Given the description of an element on the screen output the (x, y) to click on. 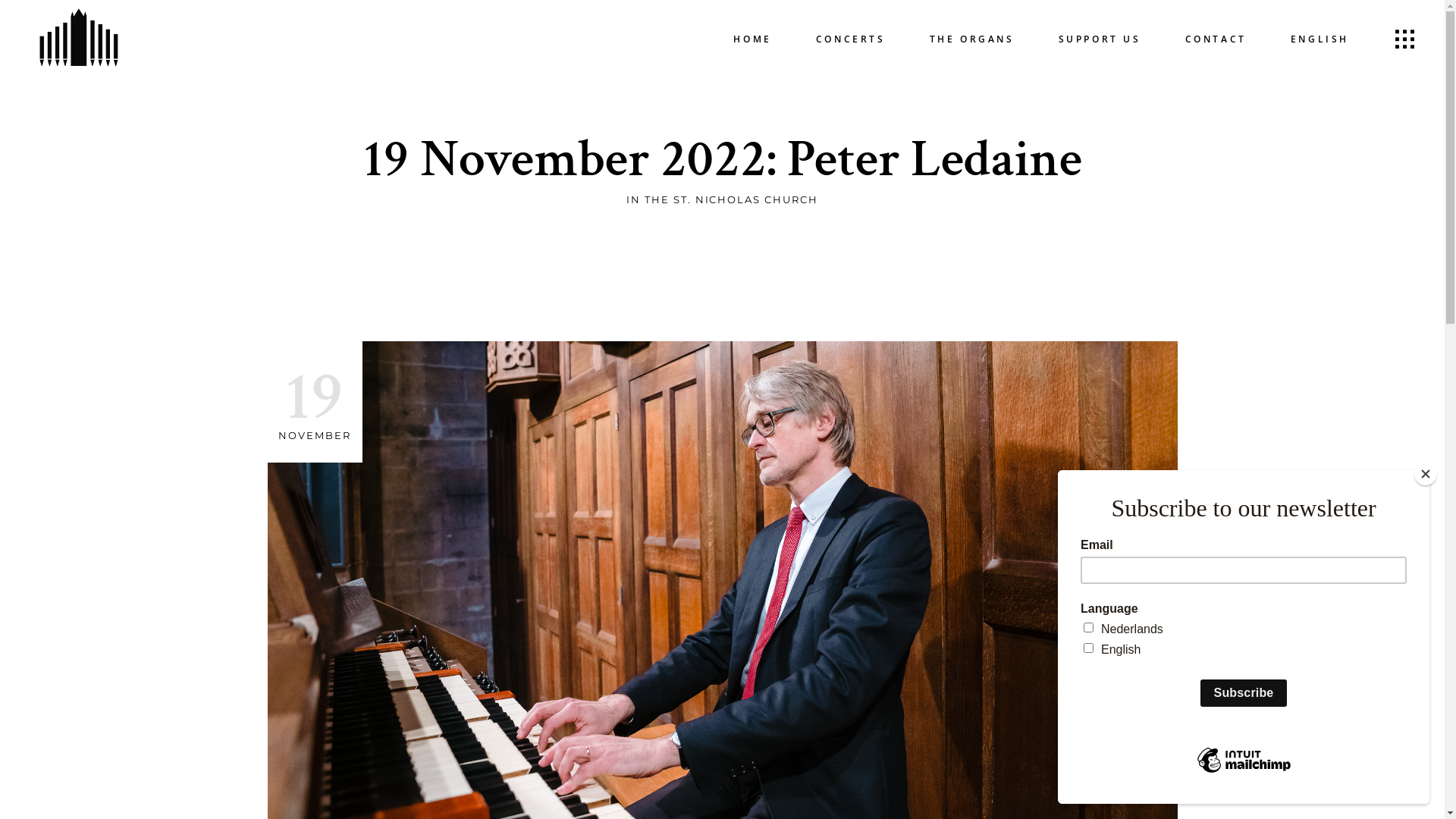
ENGLISH Element type: text (1319, 38)
CONTACT Element type: text (1215, 38)
SUPPORT US Element type: text (1099, 38)
THE ORGANS Element type: text (971, 38)
HOME Element type: text (752, 38)
CONCERTS Element type: text (850, 38)
